Given the description of an element on the screen output the (x, y) to click on. 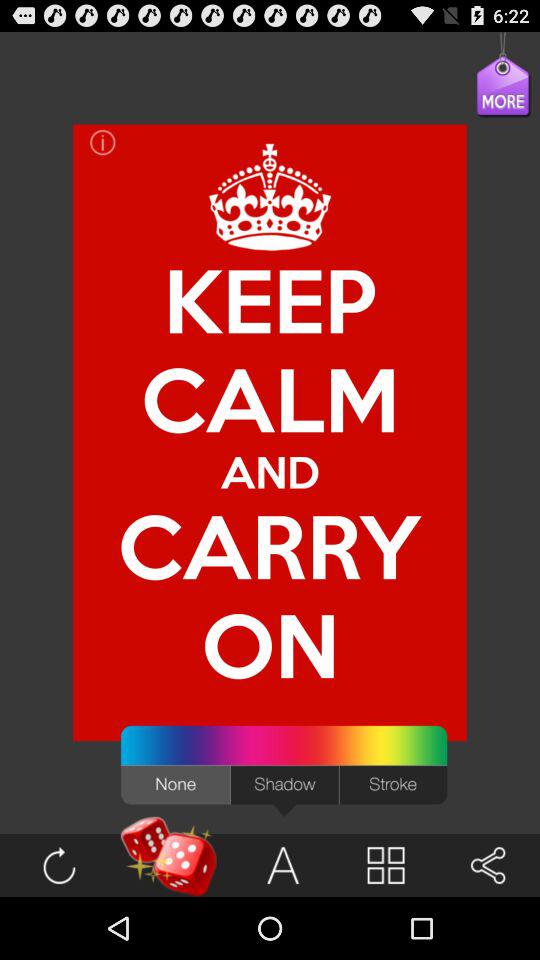
turn off icon above keep (102, 141)
